Given the description of an element on the screen output the (x, y) to click on. 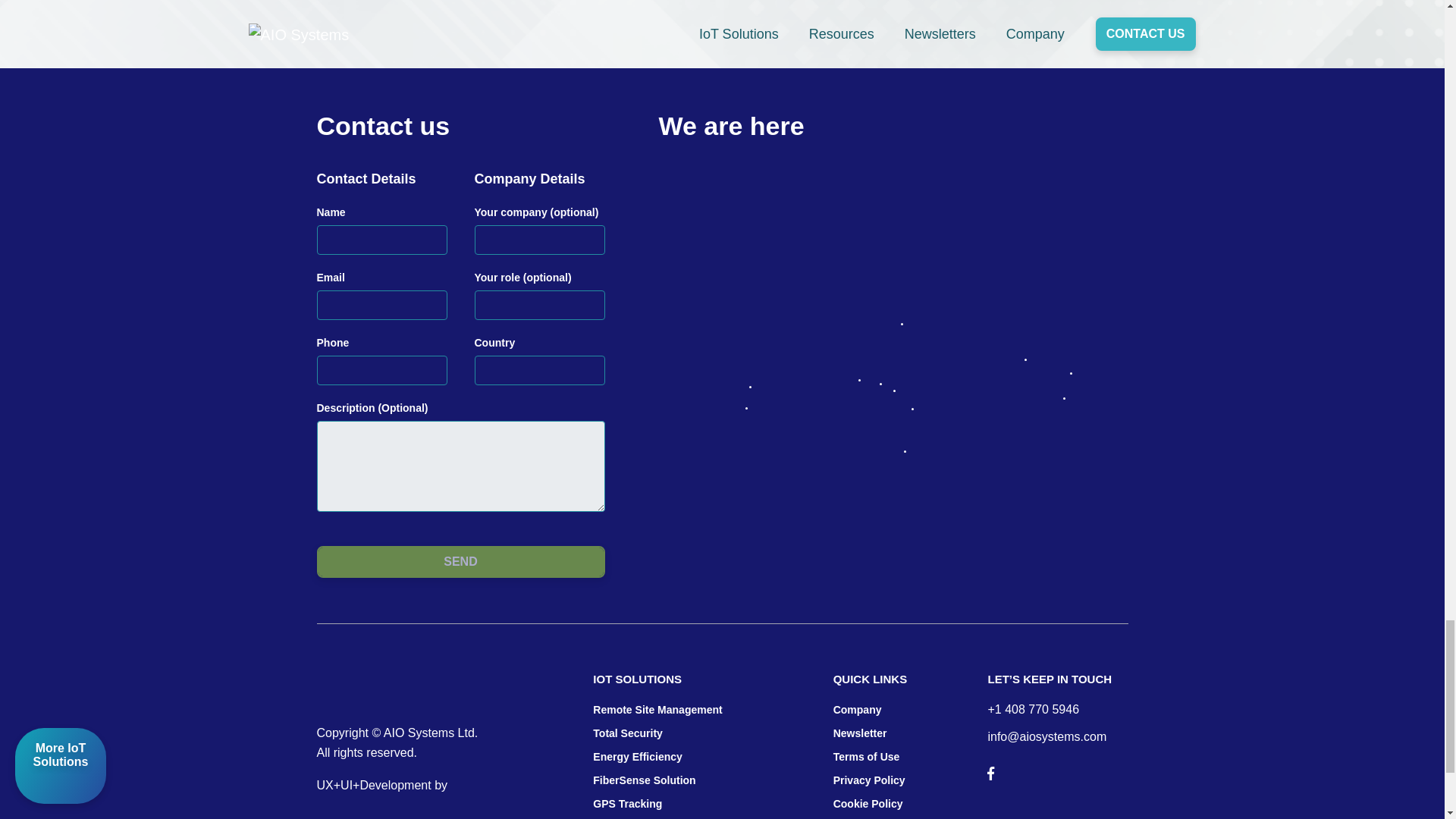
Send (461, 562)
Sign Up (1083, 17)
Send (461, 562)
Sign Up (1083, 17)
